Given the description of an element on the screen output the (x, y) to click on. 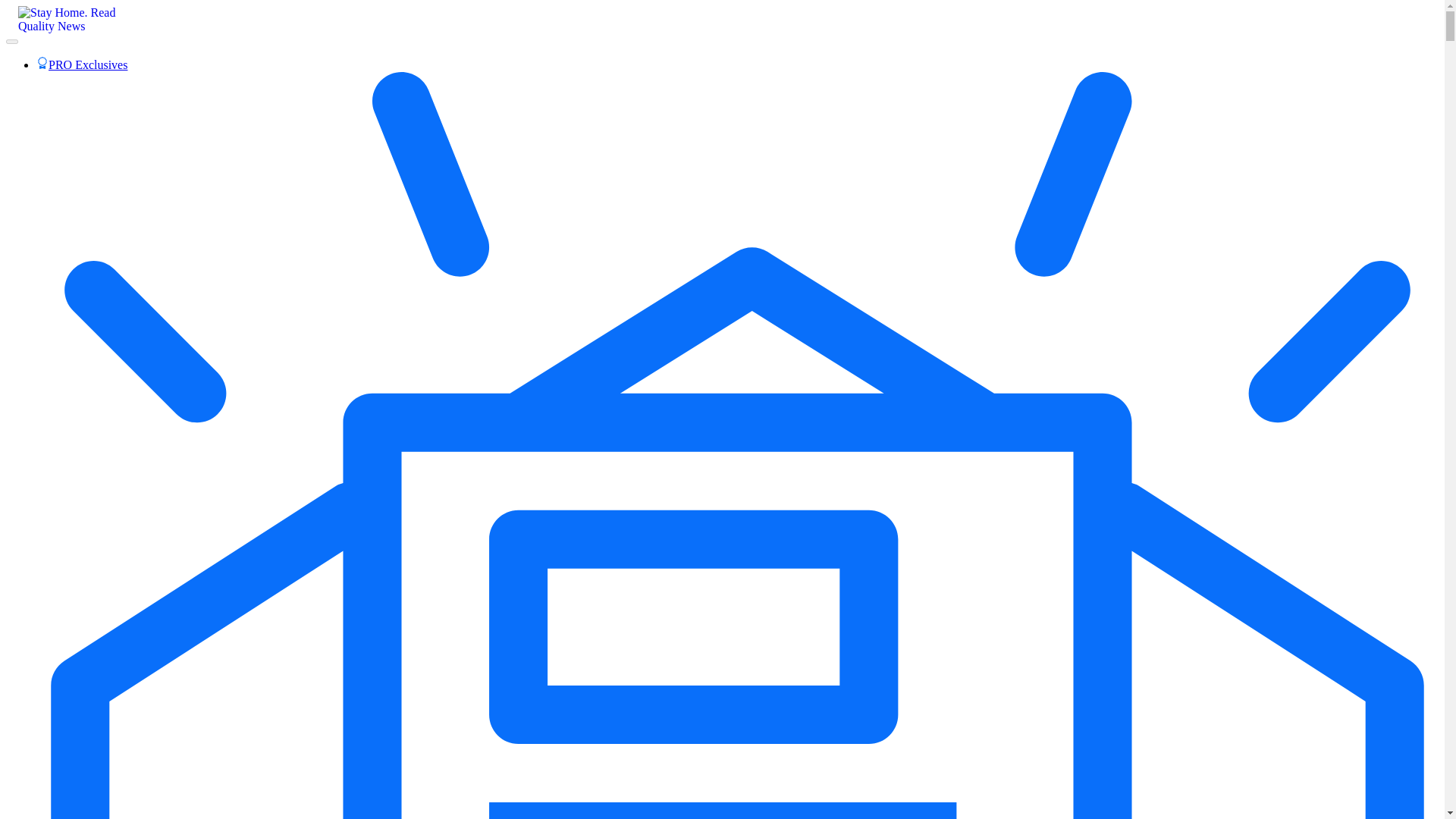
Stay Home. Read Quality News (74, 23)
PRO Exclusives (82, 64)
